Given the description of an element on the screen output the (x, y) to click on. 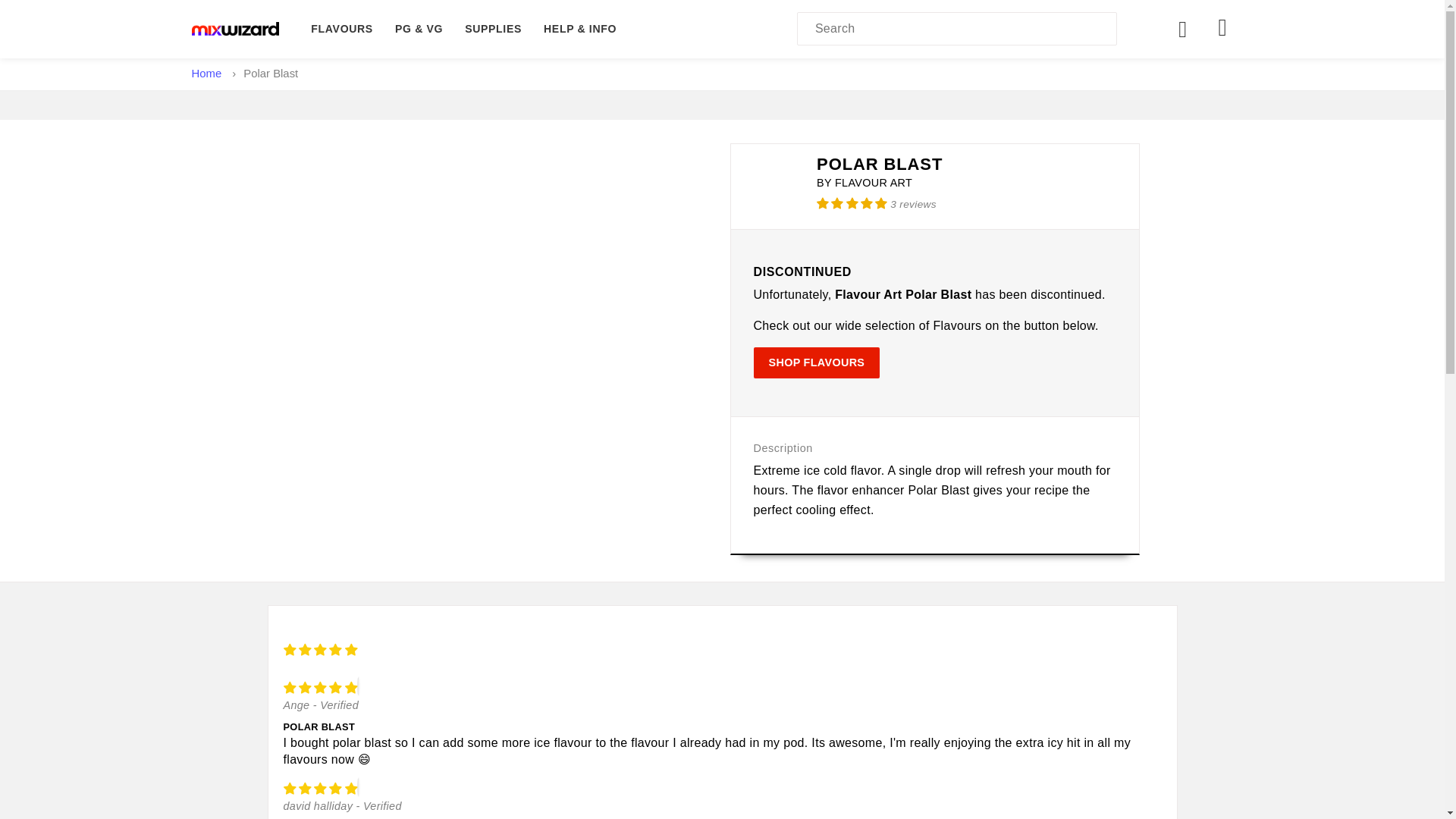
Supplies (493, 29)
FLAVOURS (341, 29)
SUPPLIES (493, 29)
Flavours (341, 29)
